Given the description of an element on the screen output the (x, y) to click on. 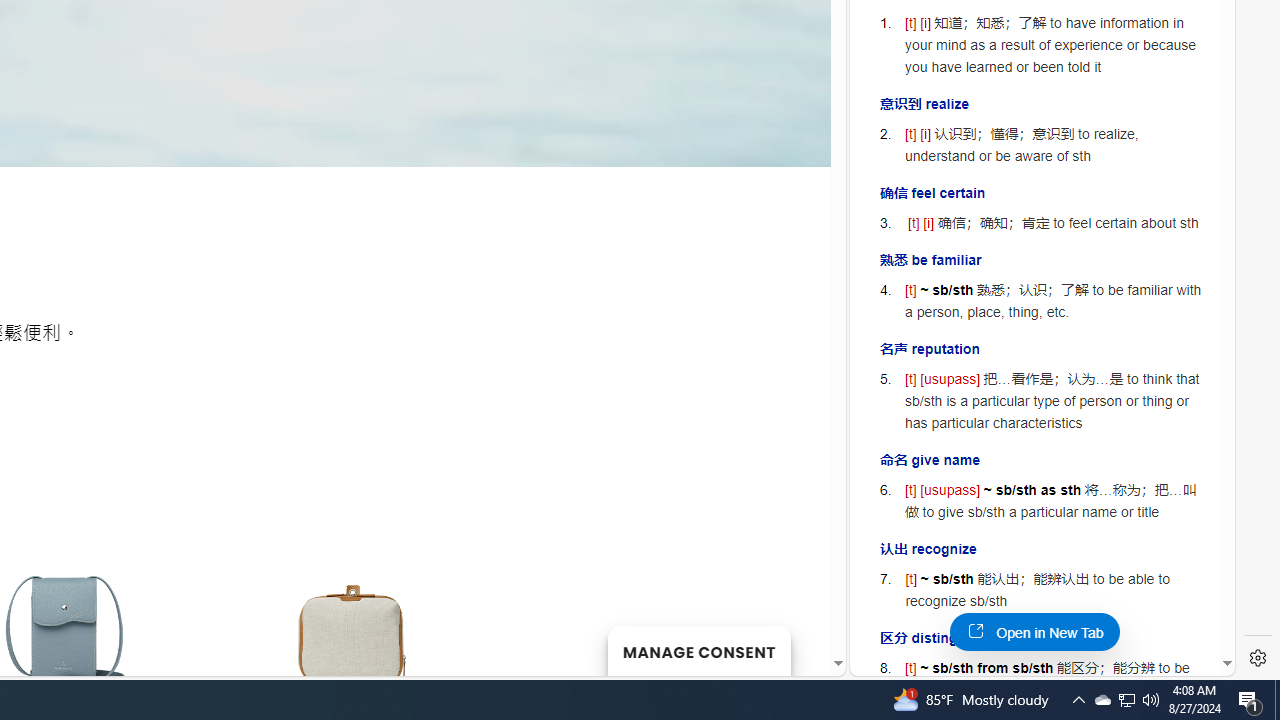
MANAGE CONSENT (698, 650)
